Given the description of an element on the screen output the (x, y) to click on. 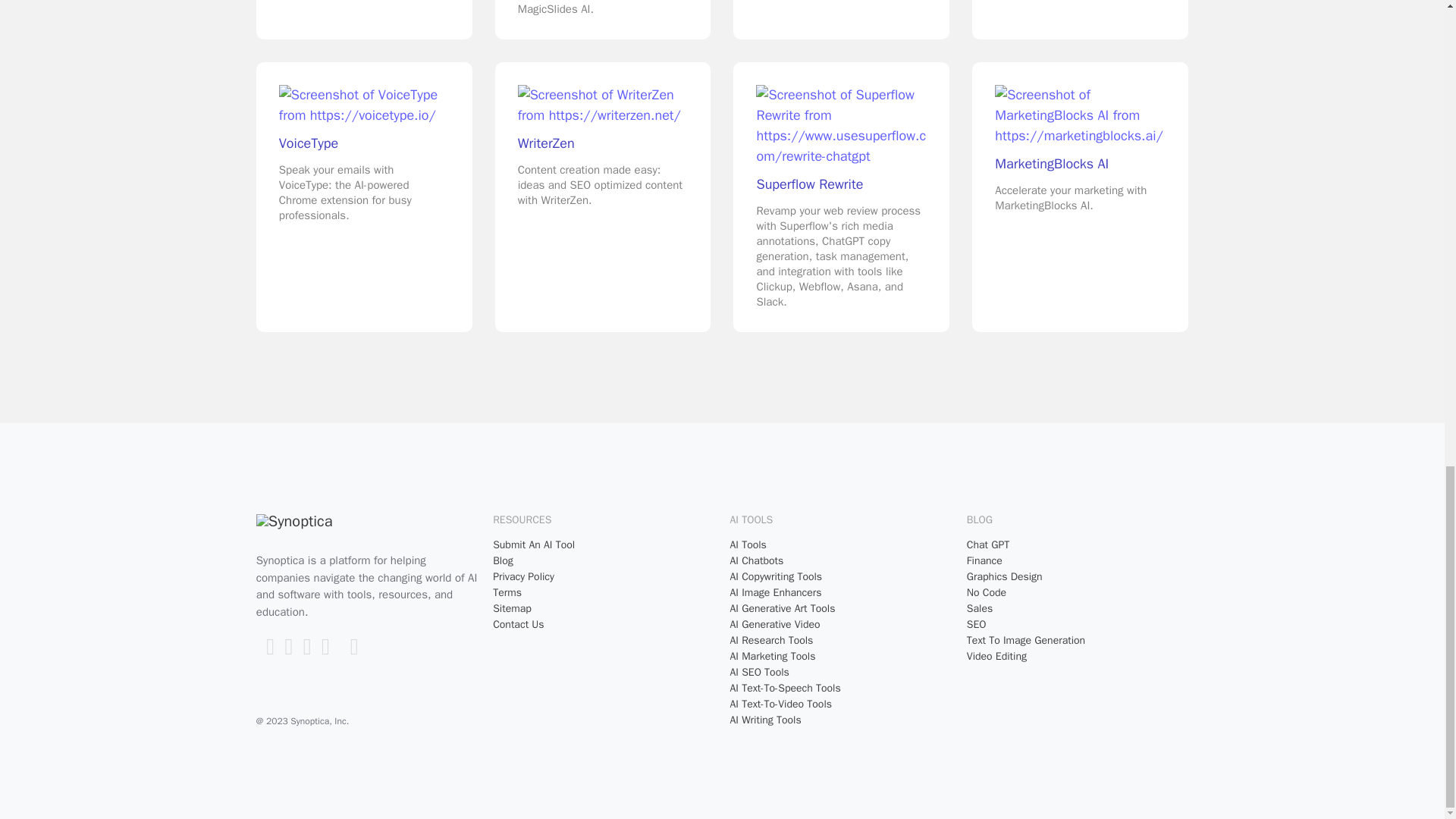
Privacy Policy (603, 576)
Blog (603, 560)
Submit An AI Tool (603, 544)
Sitemap (603, 608)
Terms (603, 592)
